Given the description of an element on the screen output the (x, y) to click on. 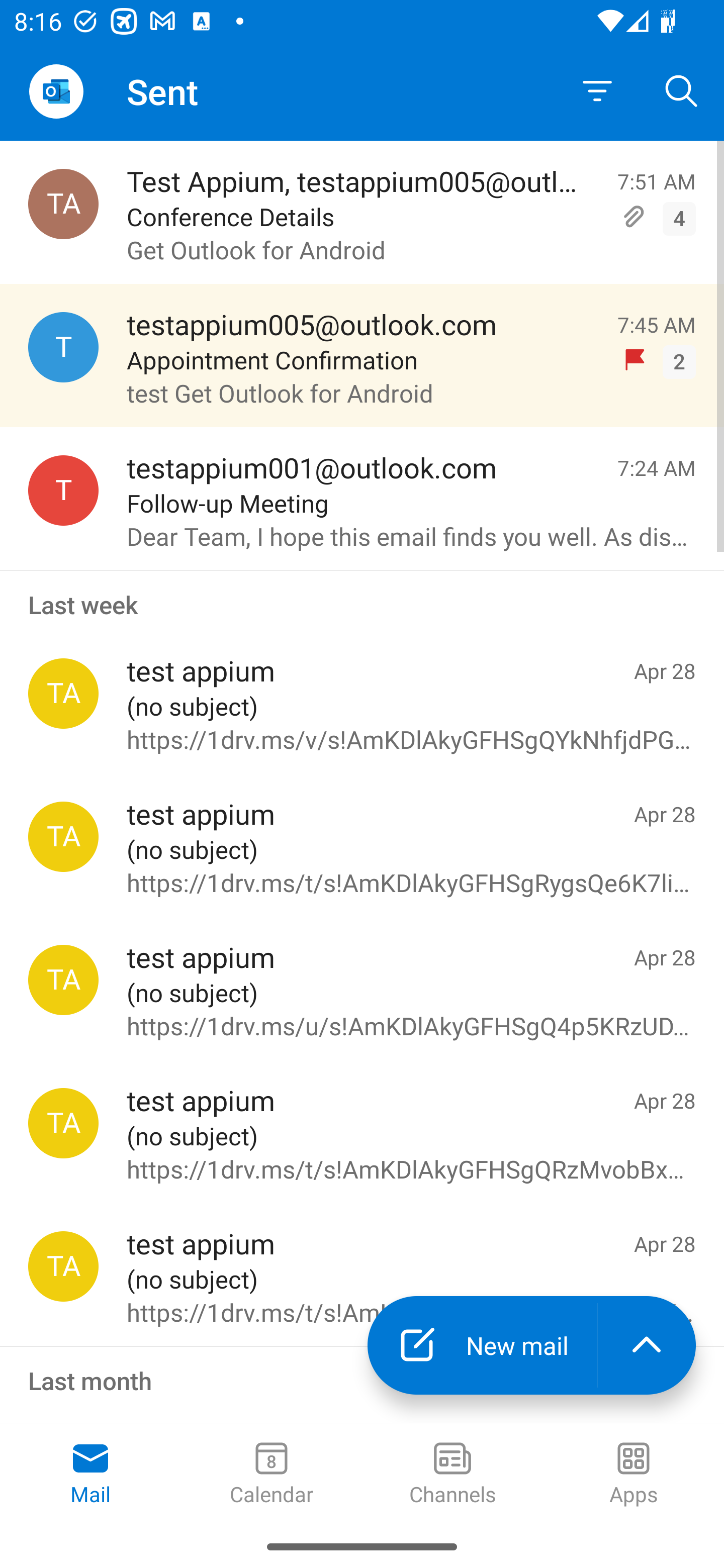
Search, ,  (681, 90)
Open Navigation Drawer (55, 91)
Filter (597, 91)
Test Appium, testappium002@outlook.com (63, 204)
test appium, testappium002@gmail.com (63, 693)
test appium, testappium002@gmail.com (63, 836)
test appium, testappium002@gmail.com (63, 979)
test appium, testappium002@gmail.com (63, 1123)
test appium, testappium002@gmail.com (63, 1265)
New mail (481, 1344)
launch the extended action menu (646, 1344)
Calendar (271, 1474)
Channels (452, 1474)
Apps (633, 1474)
